Given the description of an element on the screen output the (x, y) to click on. 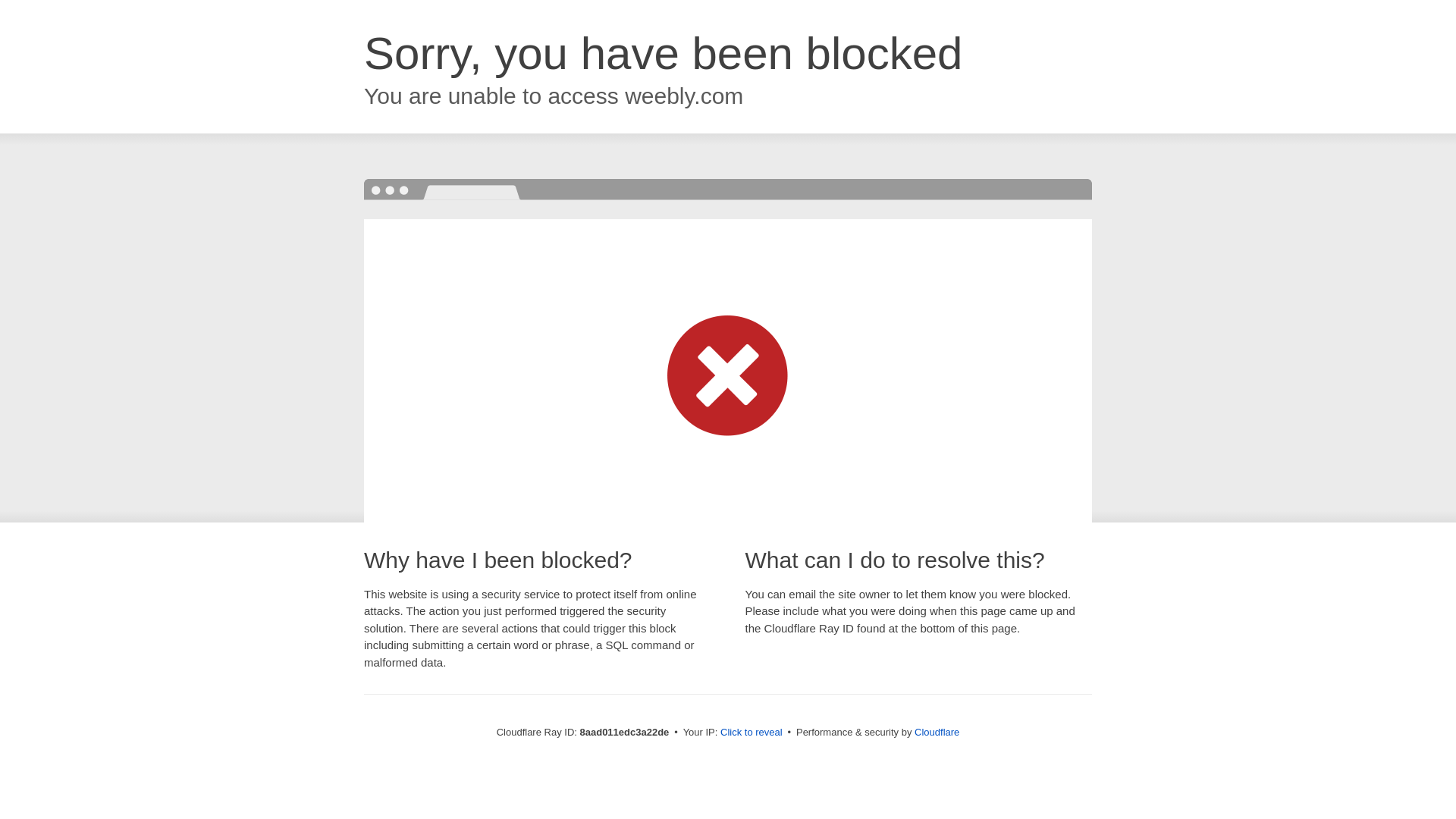
Click to reveal (751, 732)
Cloudflare (936, 731)
